Given the description of an element on the screen output the (x, y) to click on. 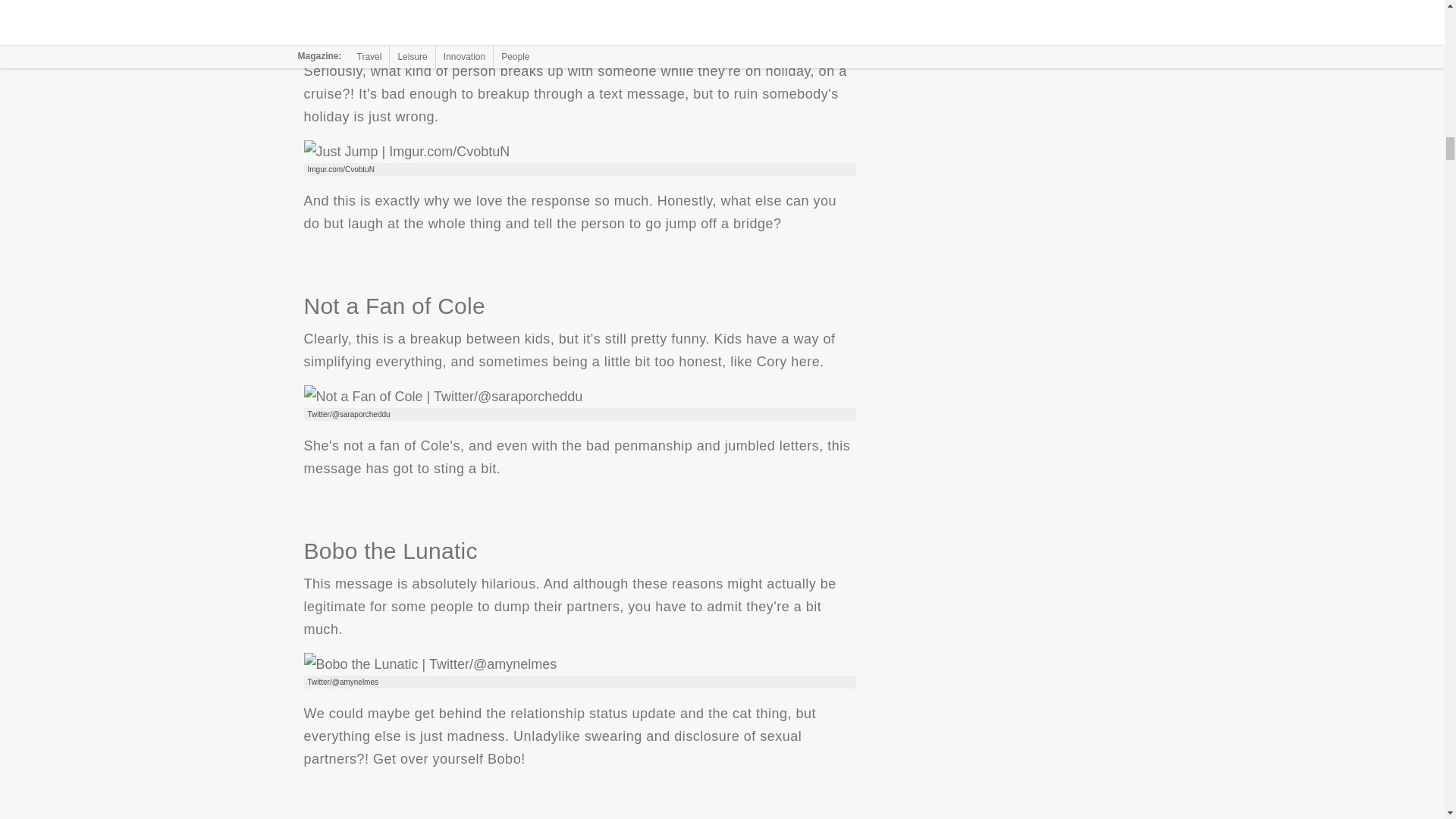
Not a Fan of Cole (442, 395)
Just Jump (405, 151)
Bobo the Lunatic (429, 663)
